Given the description of an element on the screen output the (x, y) to click on. 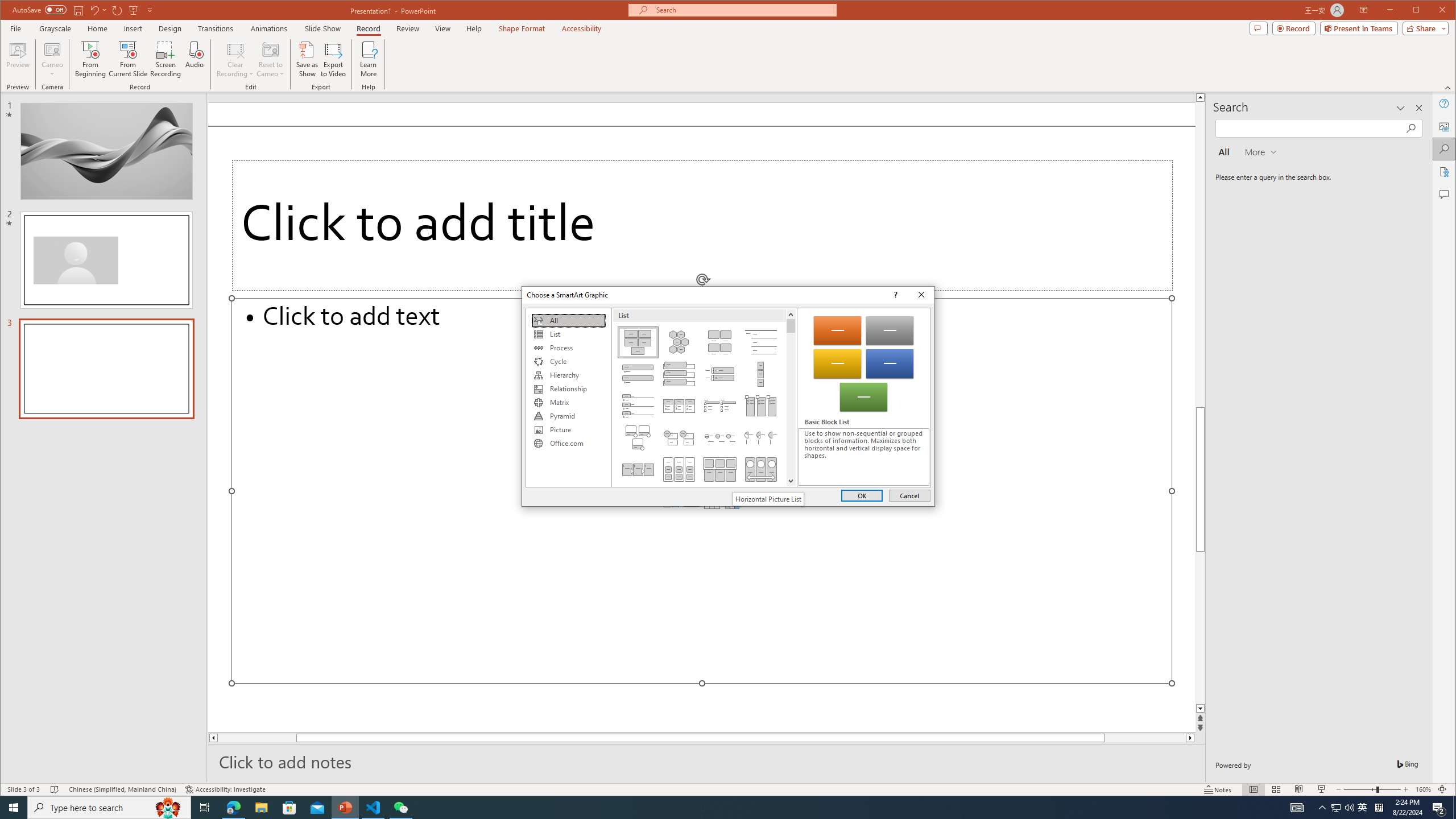
Tab List (637, 405)
Matrix (568, 402)
OK (861, 495)
WeChat - 1 running window (400, 807)
Basic Block List (637, 342)
